Given the description of an element on the screen output the (x, y) to click on. 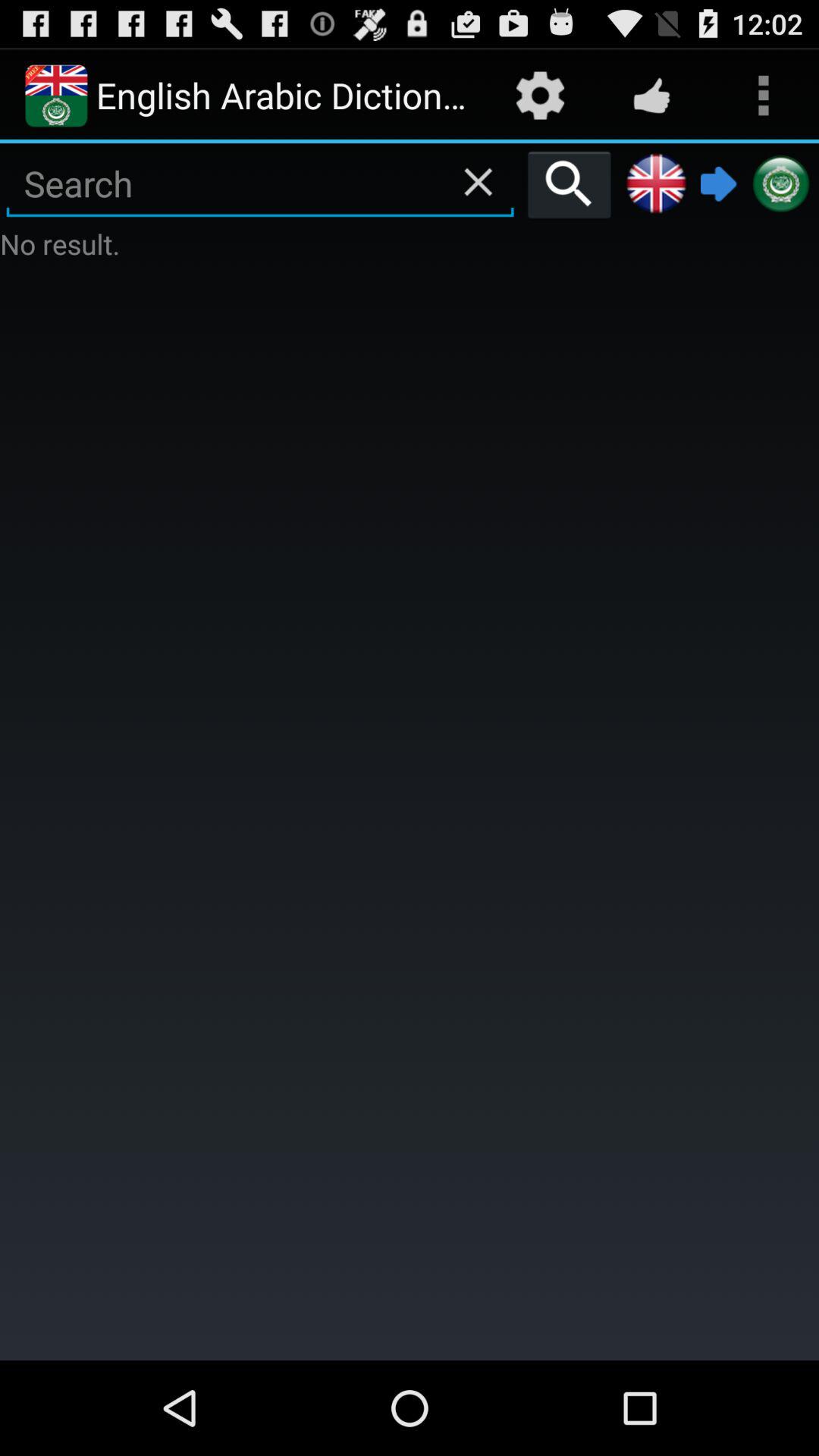
select the more button at top right corner of the page (763, 95)
click on the thumb icon right side to the settings icon on the top of the web page (651, 95)
click on the settings icon (540, 95)
click on image beside english arabic diction (55, 95)
click on the icon next to search icon (656, 183)
